Given the description of an element on the screen output the (x, y) to click on. 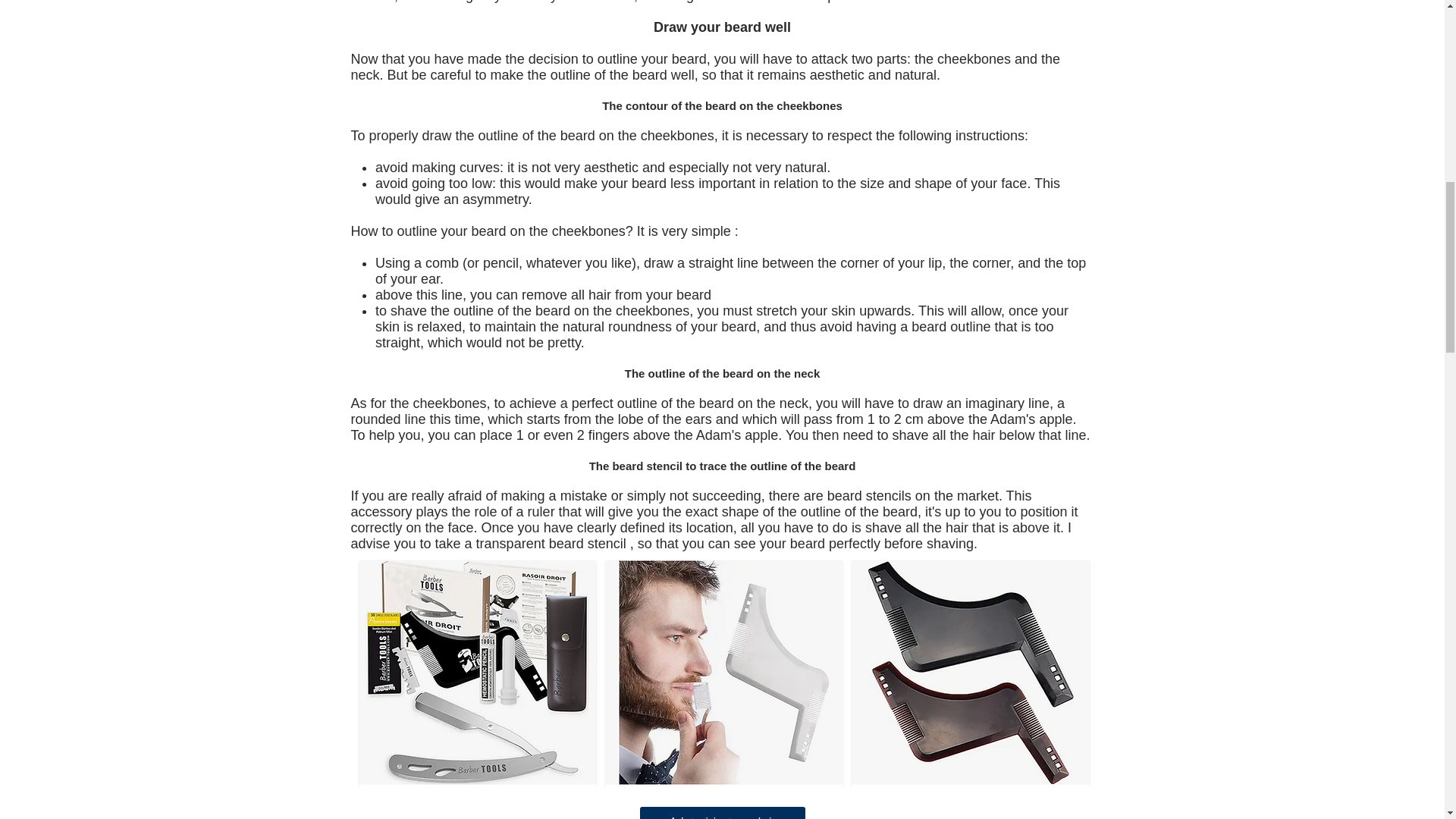
Achetez ici votre pochoir (722, 812)
beard stencil (587, 543)
